Given the description of an element on the screen output the (x, y) to click on. 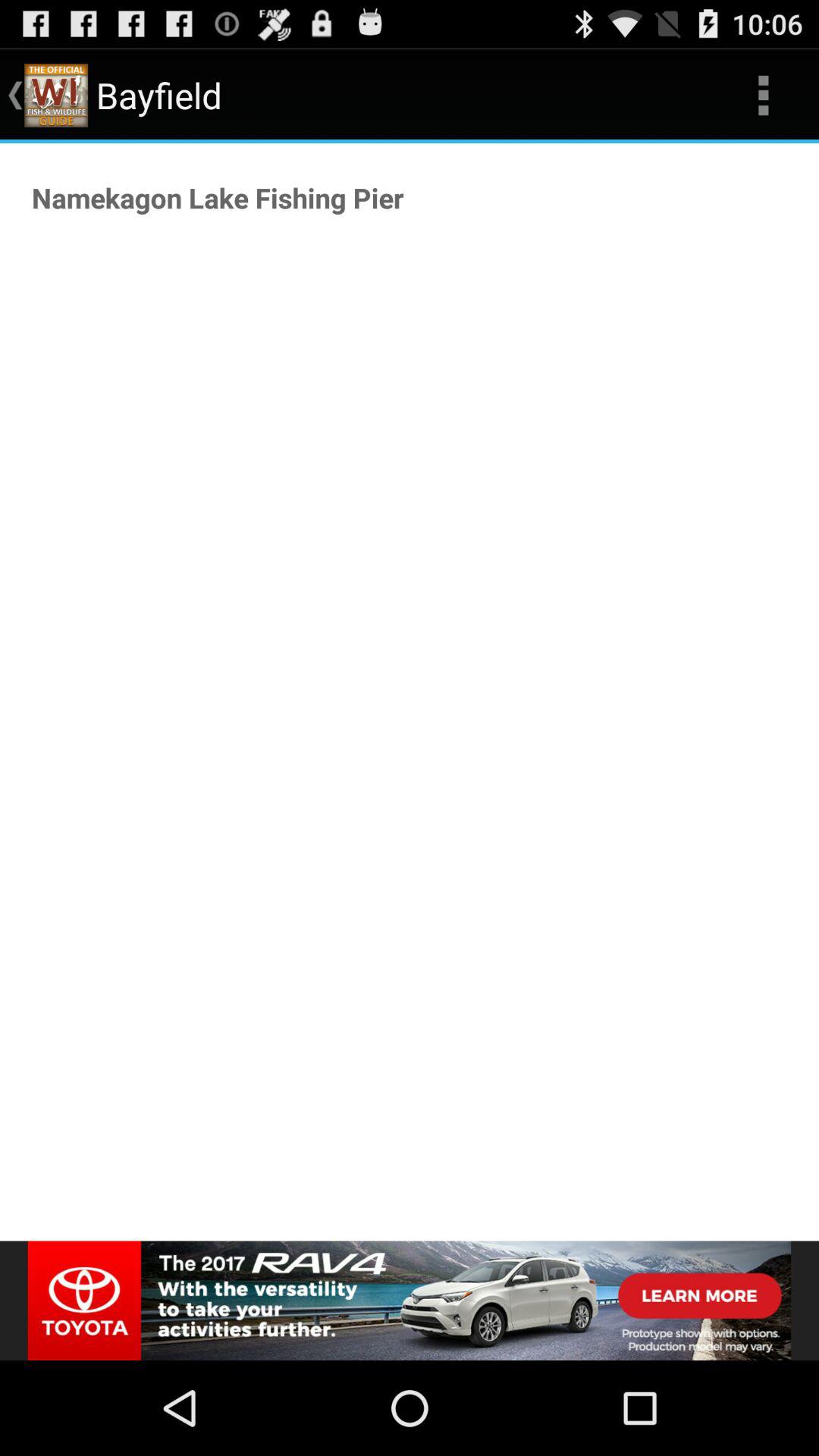
swipe until the namekagon lake fishing item (217, 197)
